Given the description of an element on the screen output the (x, y) to click on. 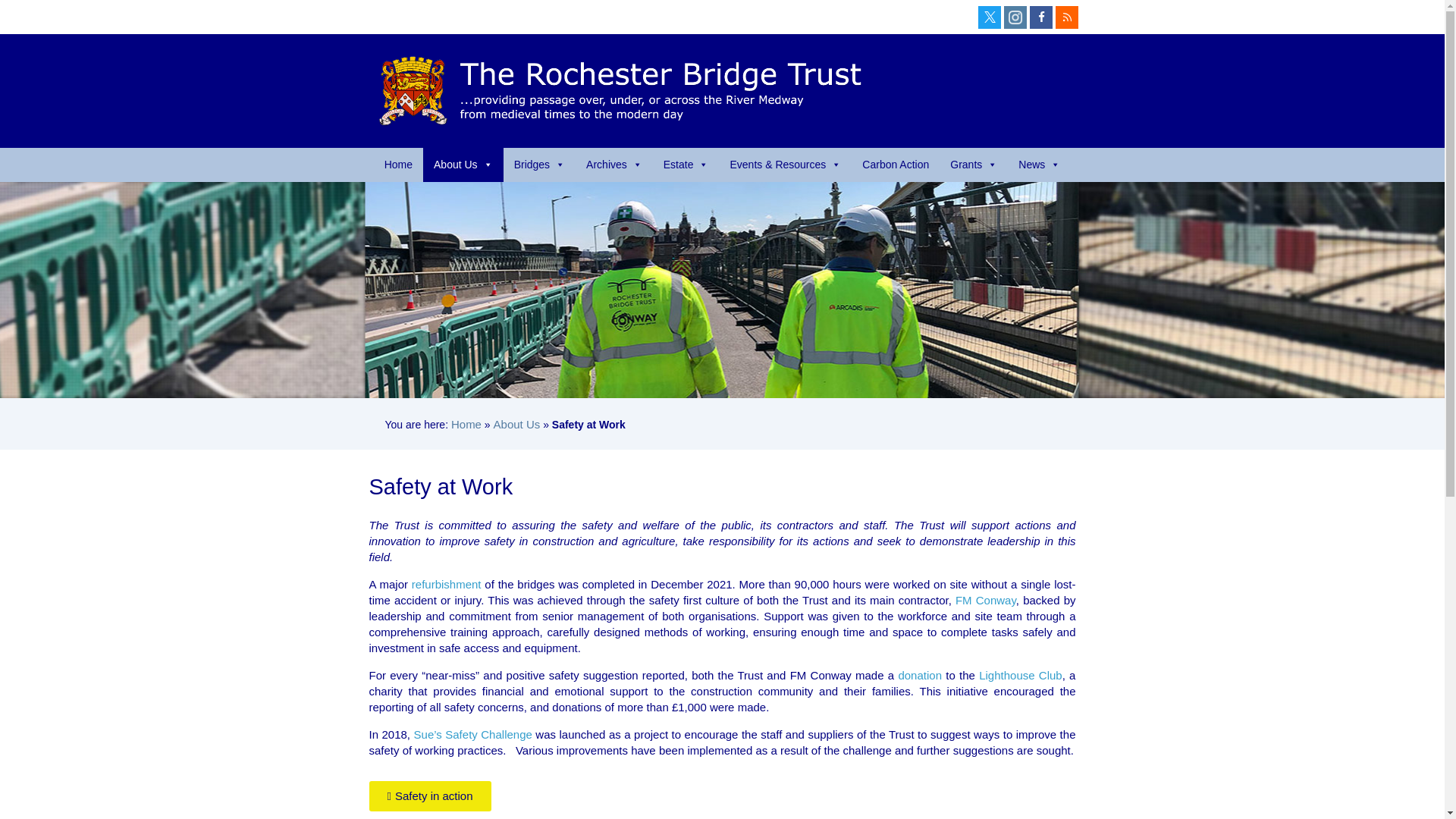
About Us (463, 164)
Home (398, 164)
Home (398, 164)
Bridges (539, 164)
